Given the description of an element on the screen output the (x, y) to click on. 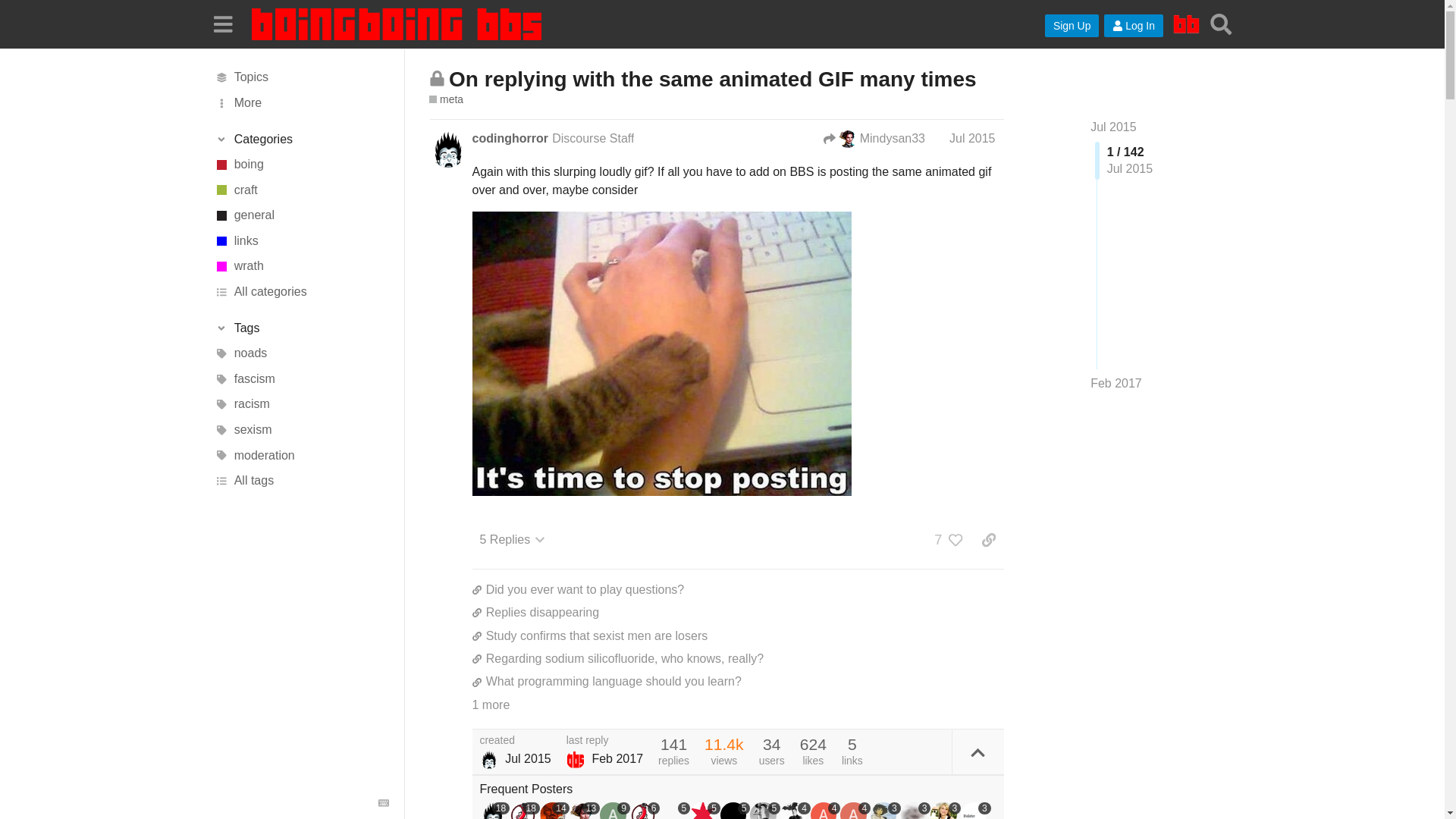
Boing Boing front page (1186, 23)
moderation (301, 455)
All topics (301, 77)
More (301, 103)
craft (301, 190)
Sidebar (222, 23)
Jul 2015 (1113, 126)
On replying with the same animated GIF many times (712, 78)
boing (301, 164)
Categories (301, 139)
meta (446, 99)
Search (1220, 23)
codinghorror (509, 138)
